Given the description of an element on the screen output the (x, y) to click on. 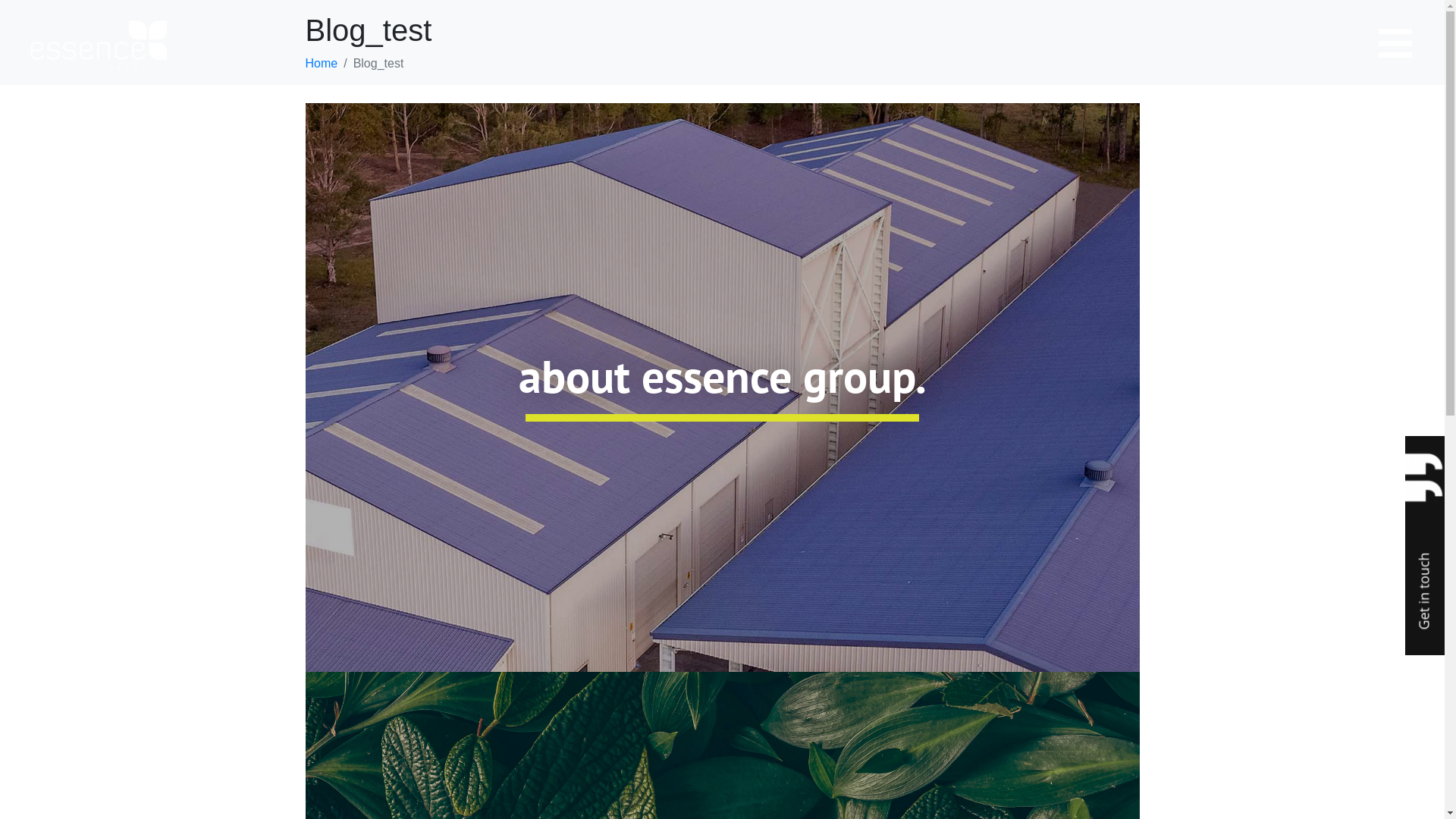
GROUP_white Element type: hover (98, 45)
Home Element type: text (320, 62)
